Given the description of an element on the screen output the (x, y) to click on. 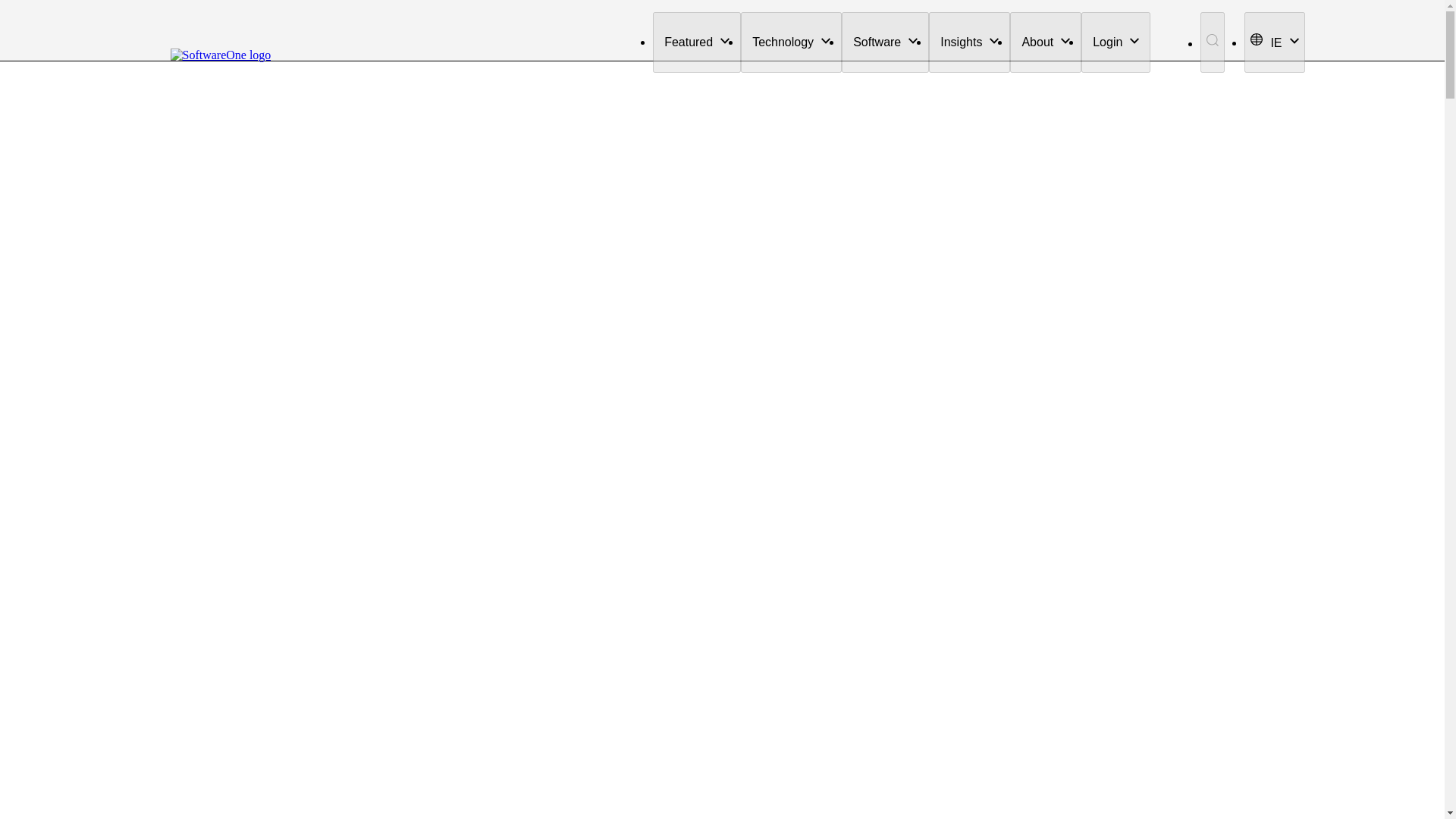
About (1045, 42)
Featured (696, 42)
Software (884, 42)
Insights (969, 42)
Login (1115, 42)
Technology (791, 42)
